Given the description of an element on the screen output the (x, y) to click on. 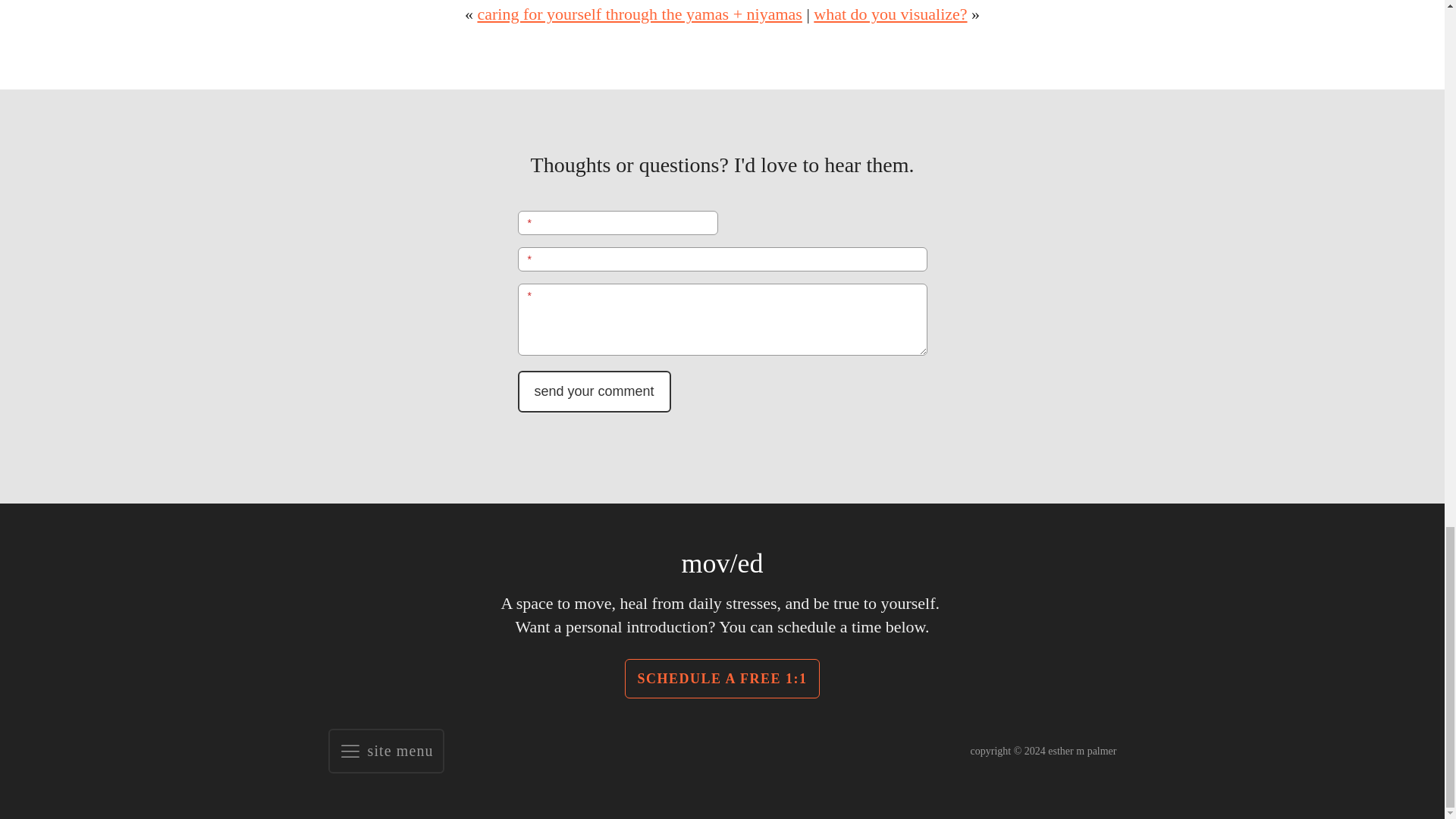
send your comment (592, 390)
what do you visualize? (889, 13)
SCHEDULE A FREE 1:1 (721, 678)
